Given the description of an element on the screen output the (x, y) to click on. 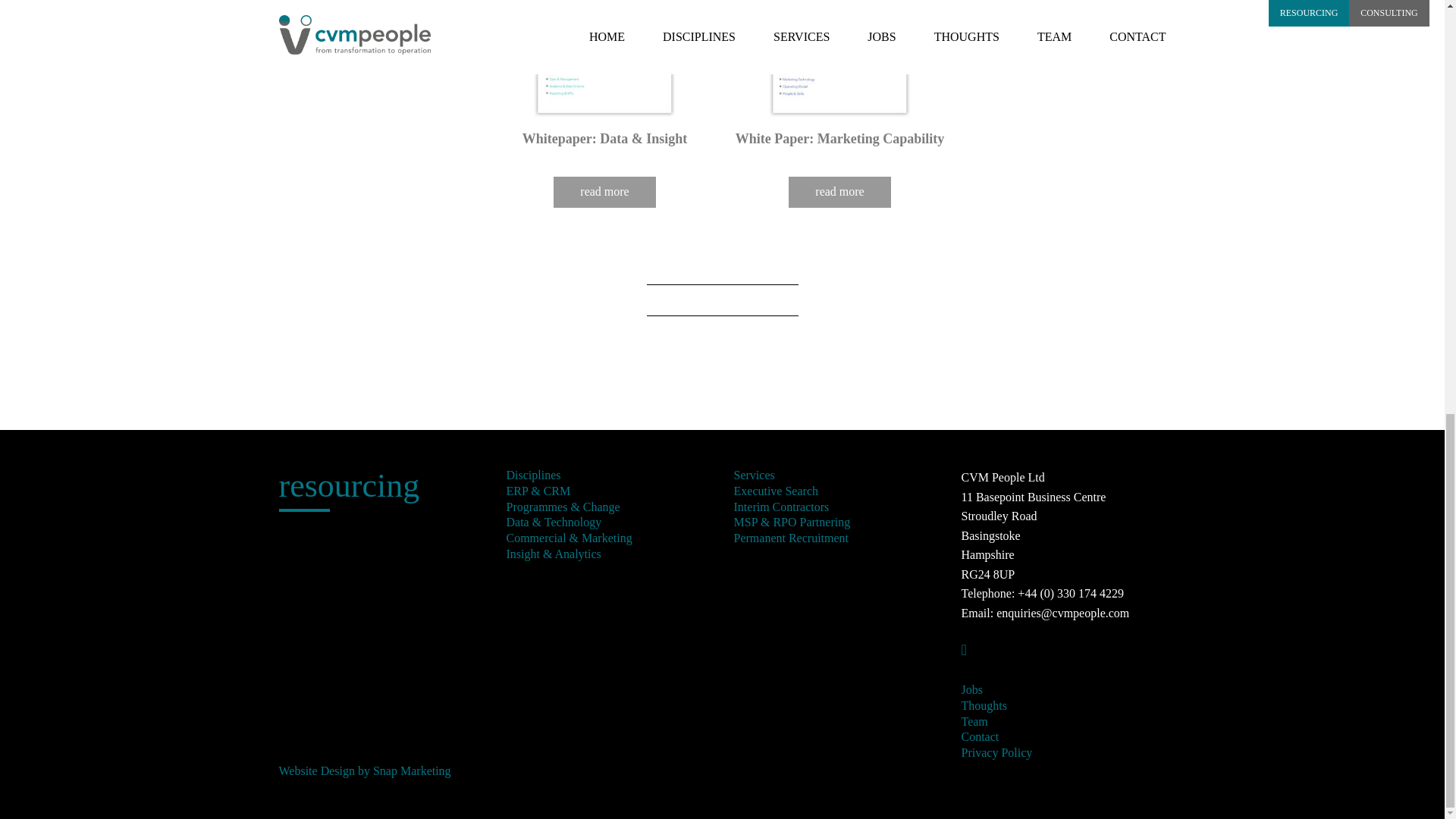
read more (604, 192)
